Given the description of an element on the screen output the (x, y) to click on. 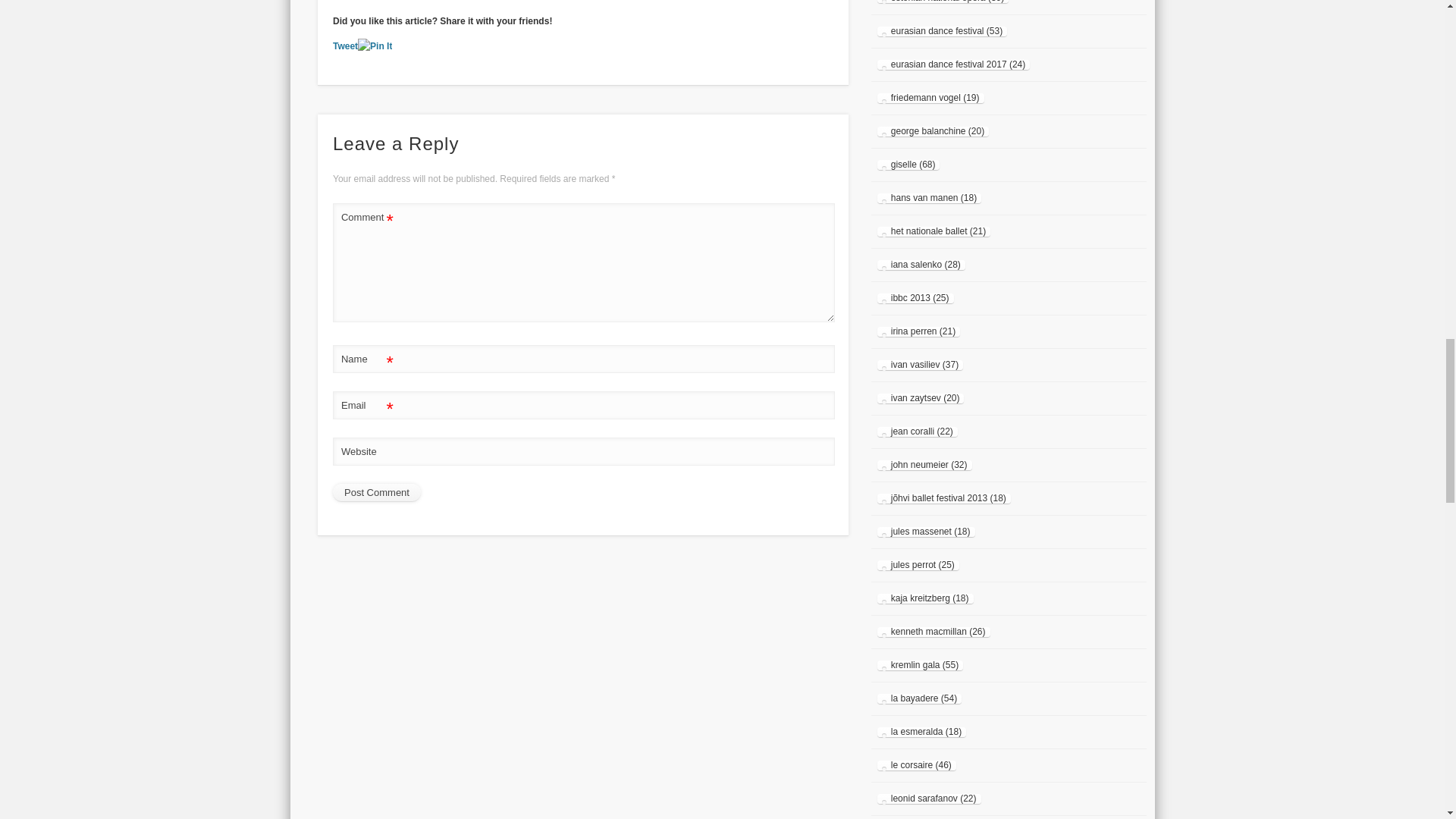
Post Comment (376, 493)
Pin It (374, 46)
Tweet (345, 45)
Post Comment (376, 493)
